Given the description of an element on the screen output the (x, y) to click on. 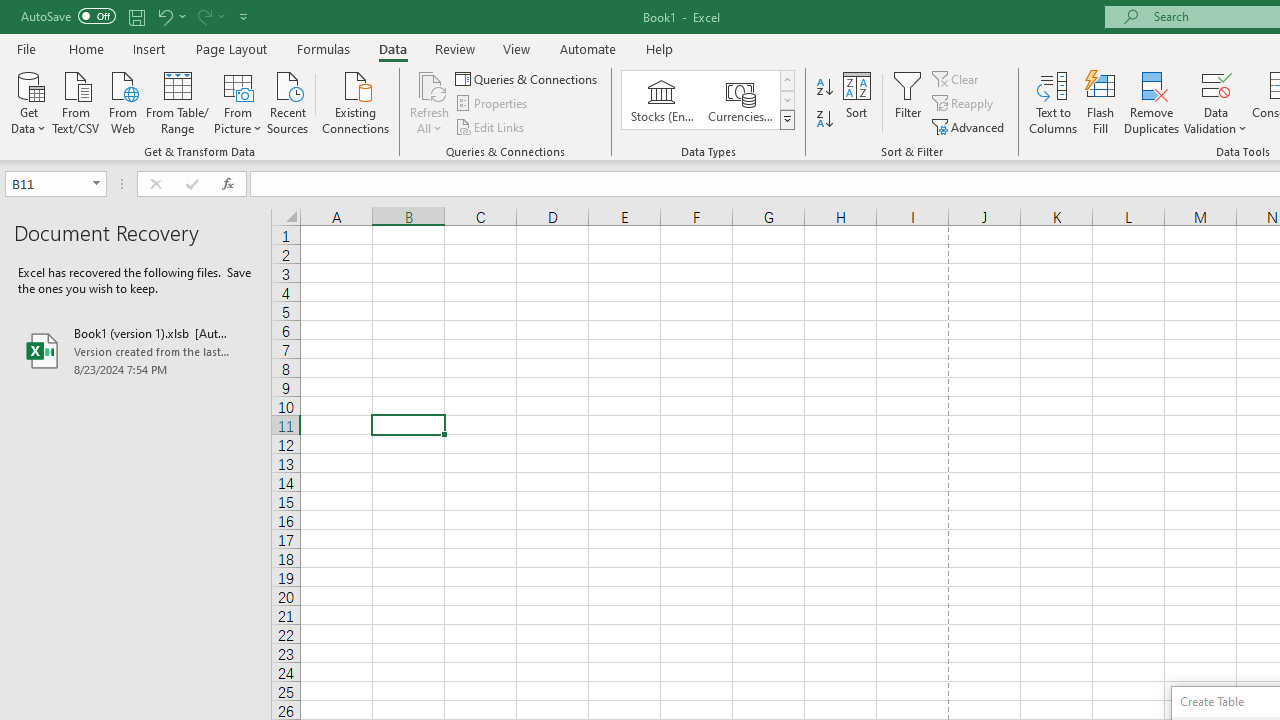
Book1 (version 1).xlsb  [AutoRecovered] (136, 350)
From Web (122, 101)
Data Types (786, 120)
Data Validation... (1215, 84)
Filter (908, 102)
From Picture (238, 101)
Text to Columns... (1053, 102)
Refresh All (429, 102)
Clear (957, 78)
Automate (588, 48)
